Given the description of an element on the screen output the (x, y) to click on. 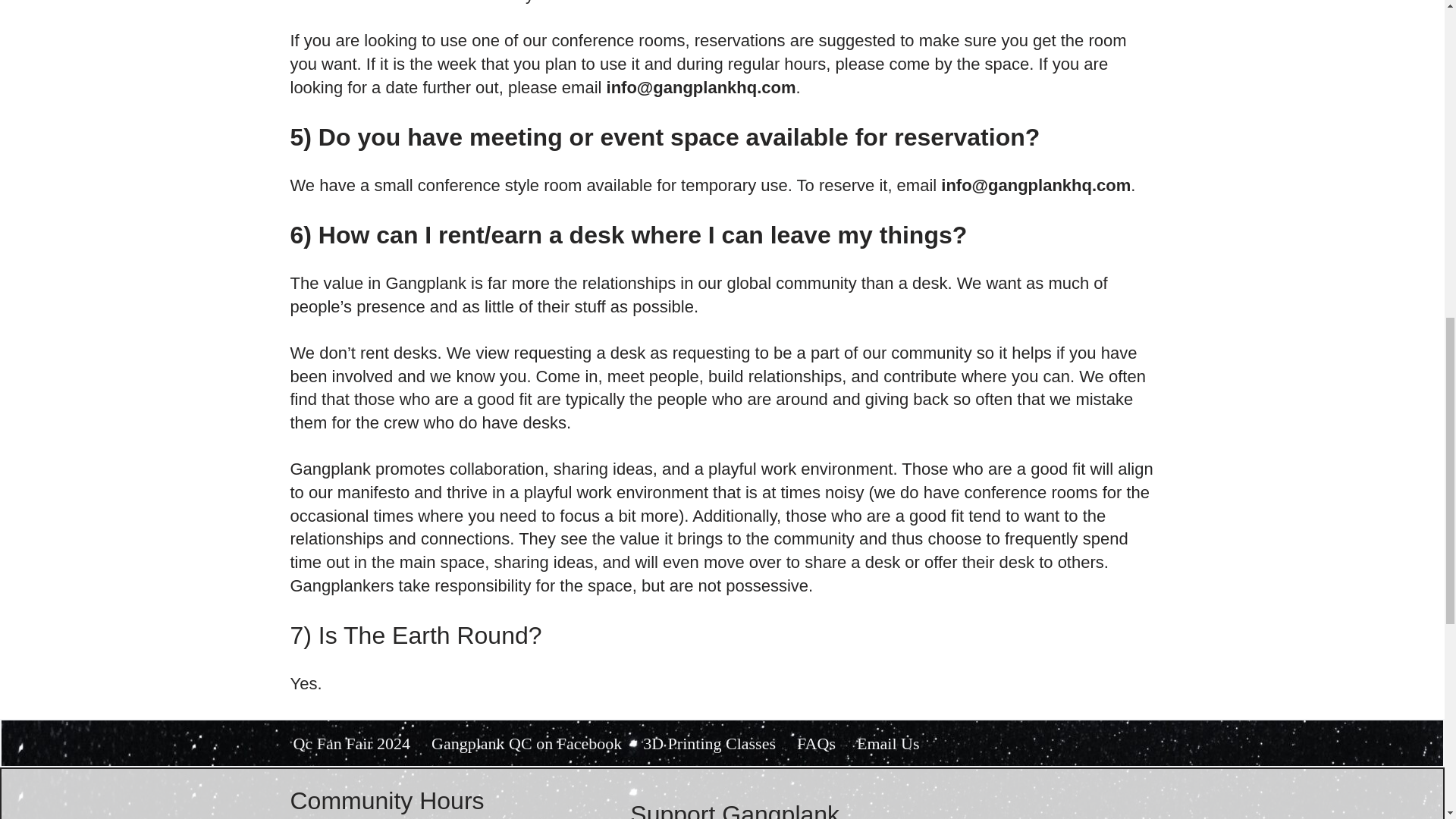
Qc Fan Fair 2024 (351, 742)
FAQs (815, 742)
Email Us (888, 742)
Gangplank QC on Facebook (525, 742)
3D Printing Classes (709, 742)
